Given the description of an element on the screen output the (x, y) to click on. 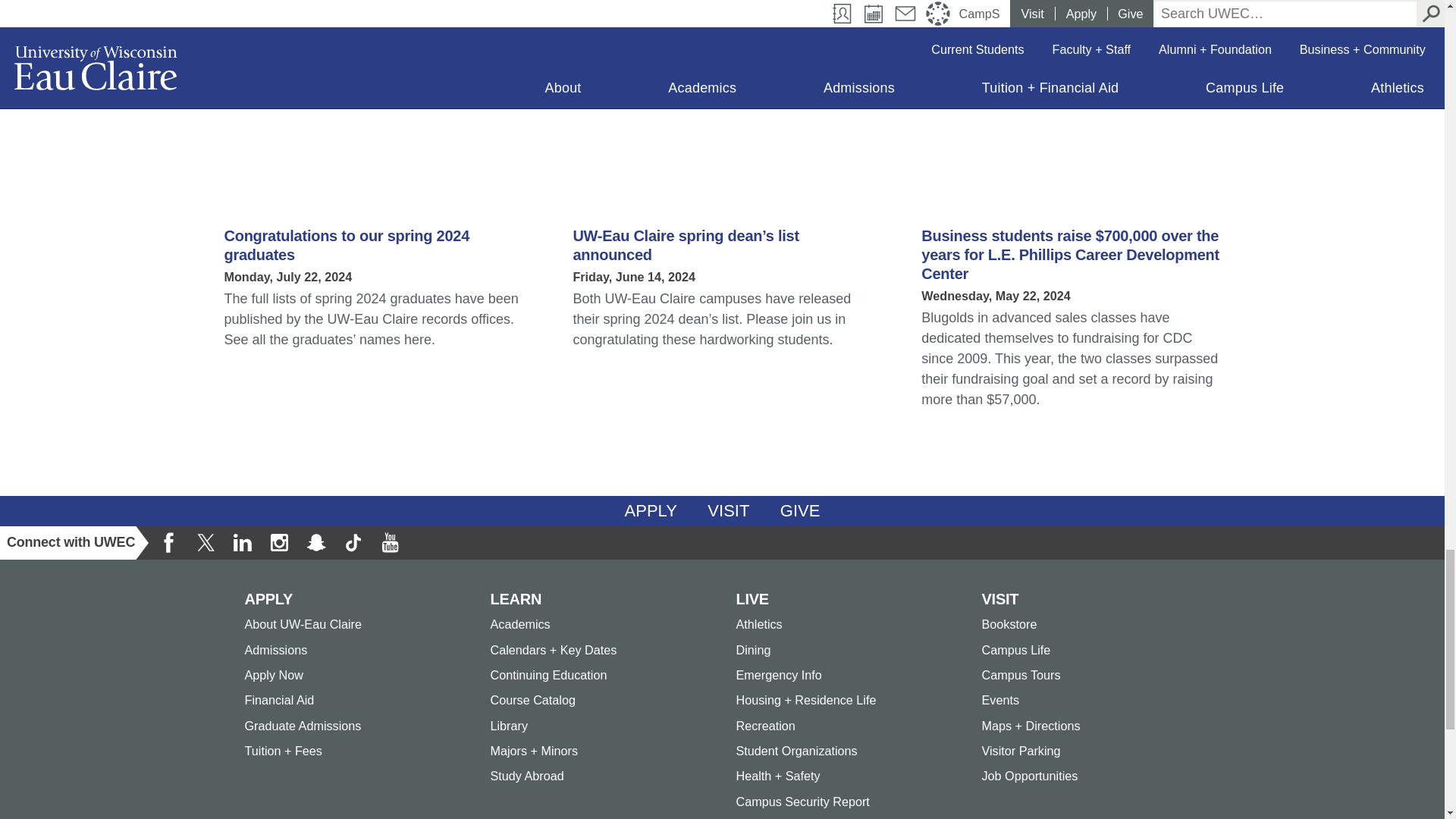
Follow us on TikTok (352, 542)
Like us on Facebook (169, 542)
Plan a Visit (728, 511)
Give Now (800, 511)
Subscribe to our YouTube channel (389, 542)
Follow us on Twitter (205, 542)
Connect with us on LinkedIn (242, 542)
Snap with us on Snapchat (316, 542)
Follow us on Instagram (278, 542)
Apply Now (650, 511)
